Given the description of an element on the screen output the (x, y) to click on. 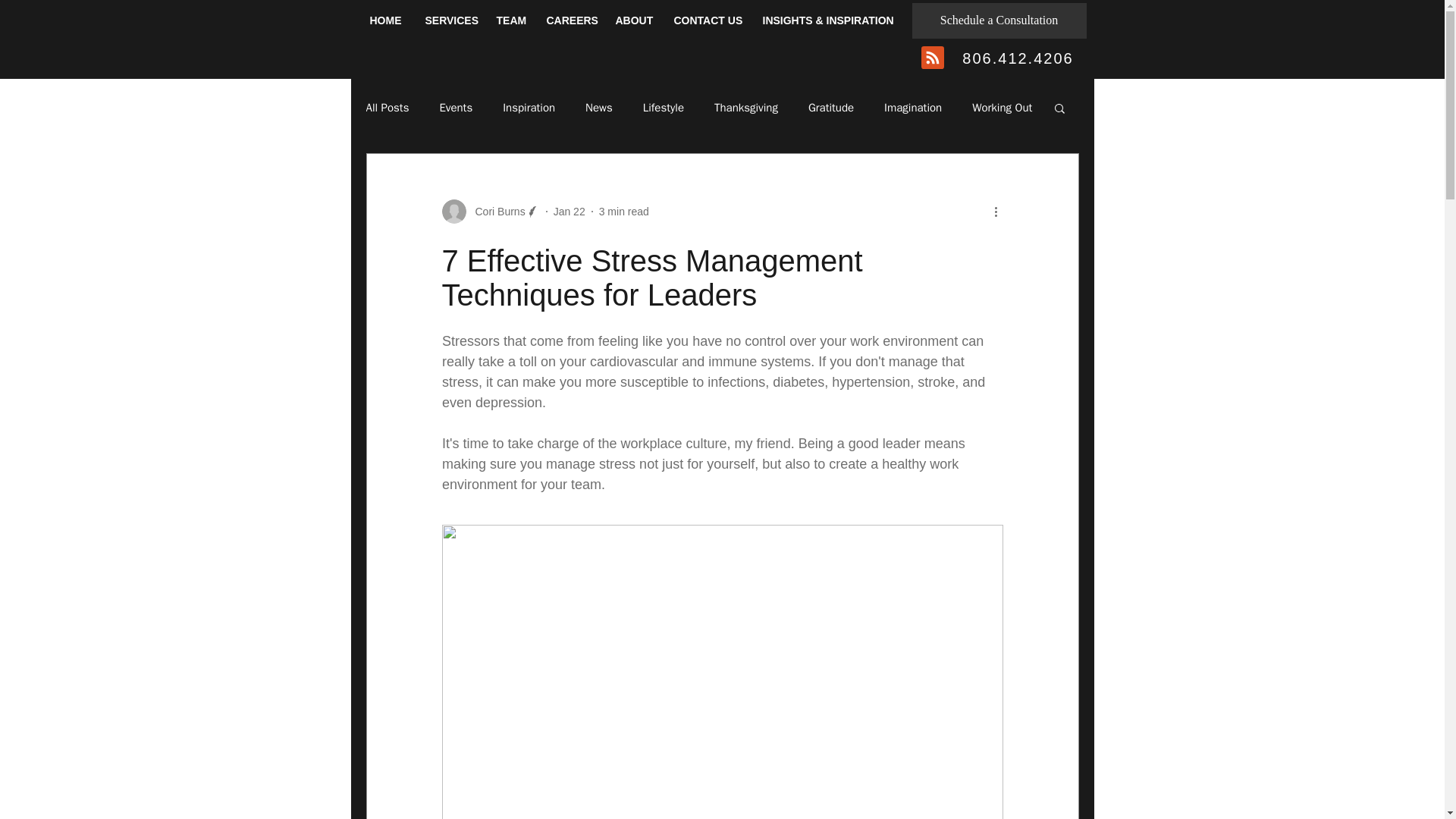
Inspiration (528, 106)
TEAM (509, 20)
Jan 22 (569, 210)
All Posts (387, 106)
Lifestyle (663, 106)
3 min read (623, 210)
Events (455, 106)
News (598, 106)
Imagination (912, 106)
Gratitude (830, 106)
